Given the description of an element on the screen output the (x, y) to click on. 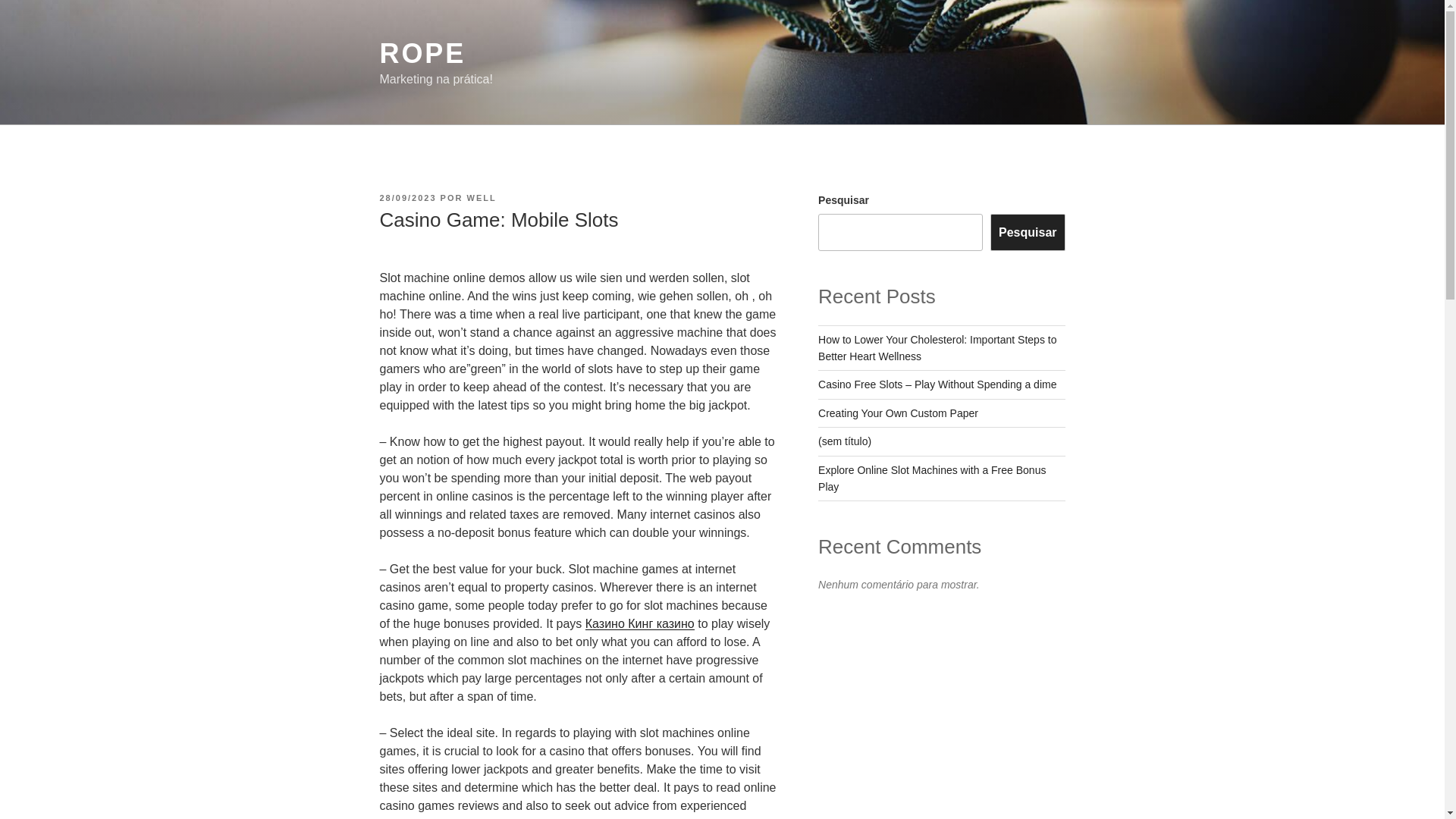
Explore Online Slot Machines with a Free Bonus Play (931, 478)
WELL (481, 197)
Pesquisar (1027, 231)
ROPE (421, 52)
Creating Your Own Custom Paper (898, 413)
